Given the description of an element on the screen output the (x, y) to click on. 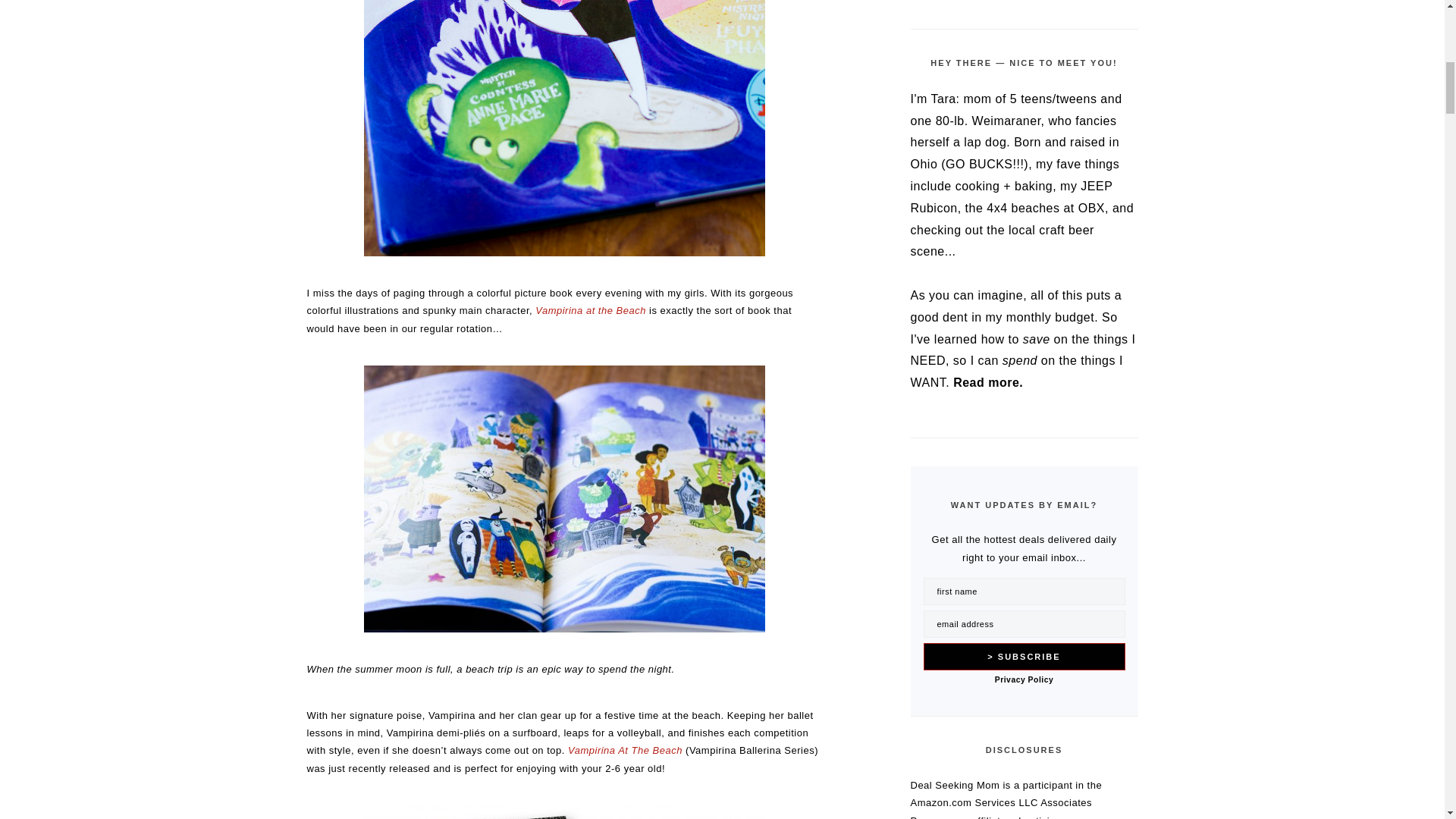
Vampirina At The Beach (624, 749)
Vampirina at the Beach Pages (564, 498)
Vampirina at the Beach (564, 128)
Vampirina at the Beach (590, 310)
Dreadfully Fun Prize Pack (564, 812)
